Given the description of an element on the screen output the (x, y) to click on. 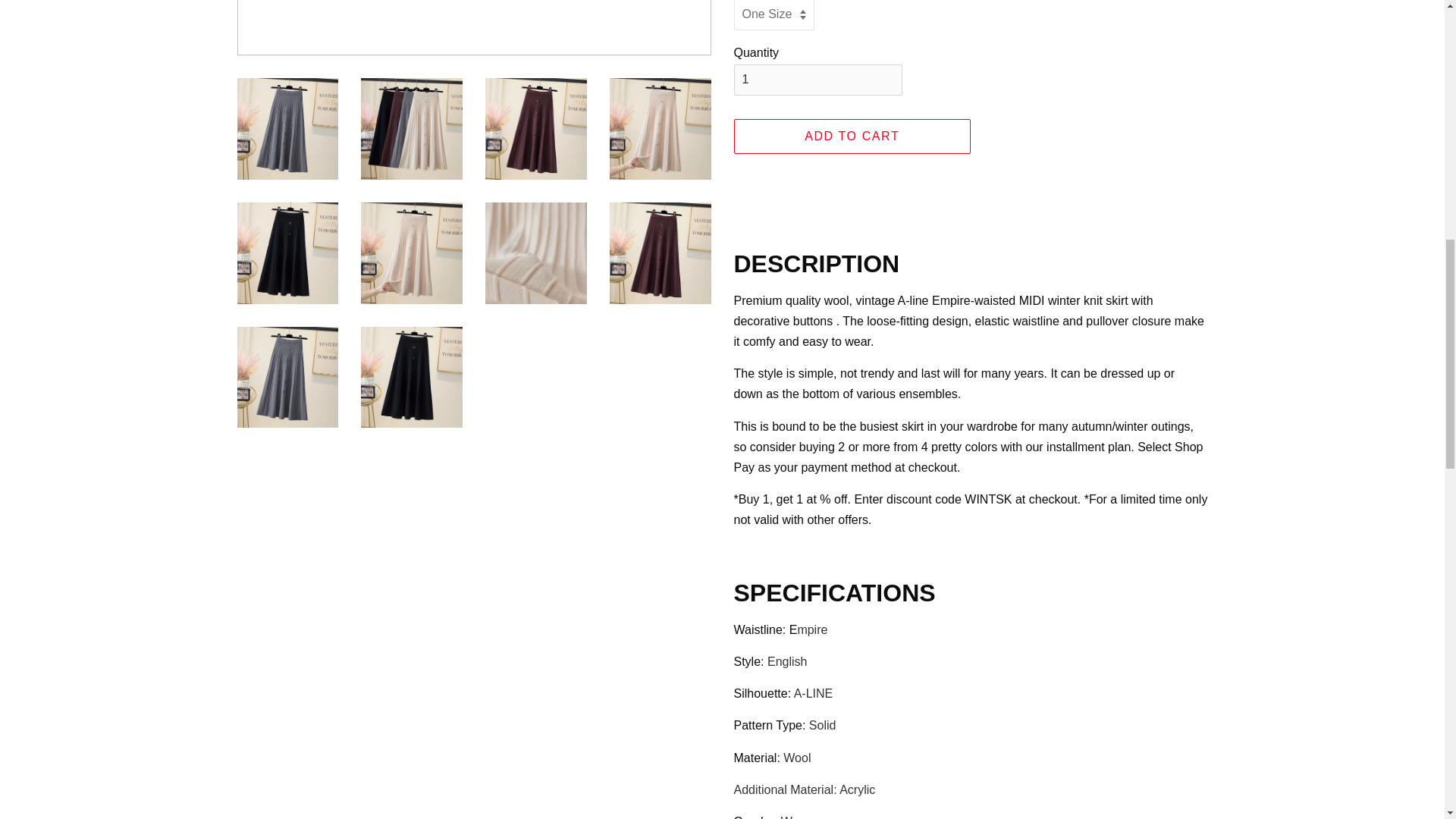
1 (817, 79)
